Given the description of an element on the screen output the (x, y) to click on. 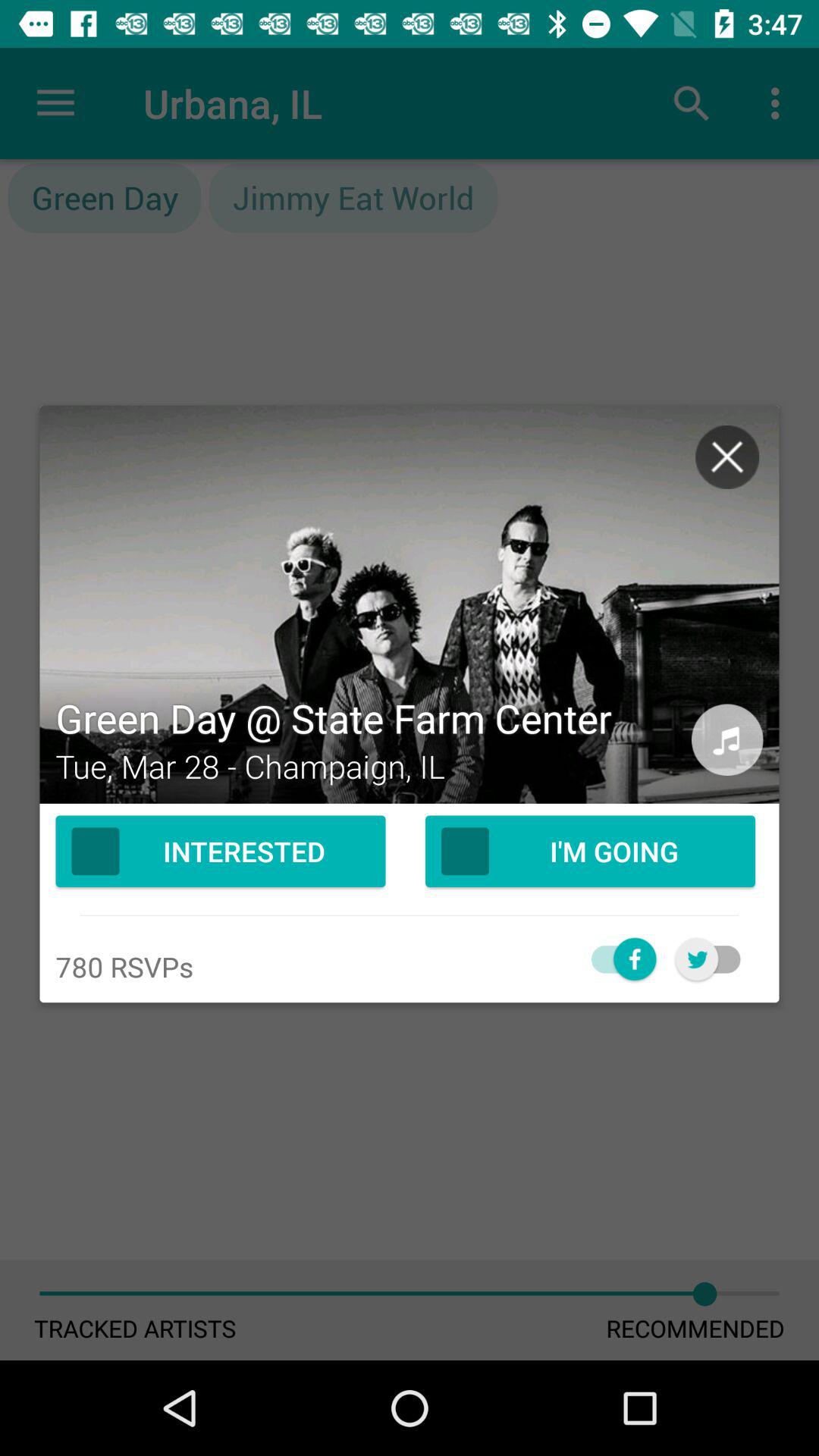
share to twitter (716, 959)
